Given the description of an element on the screen output the (x, y) to click on. 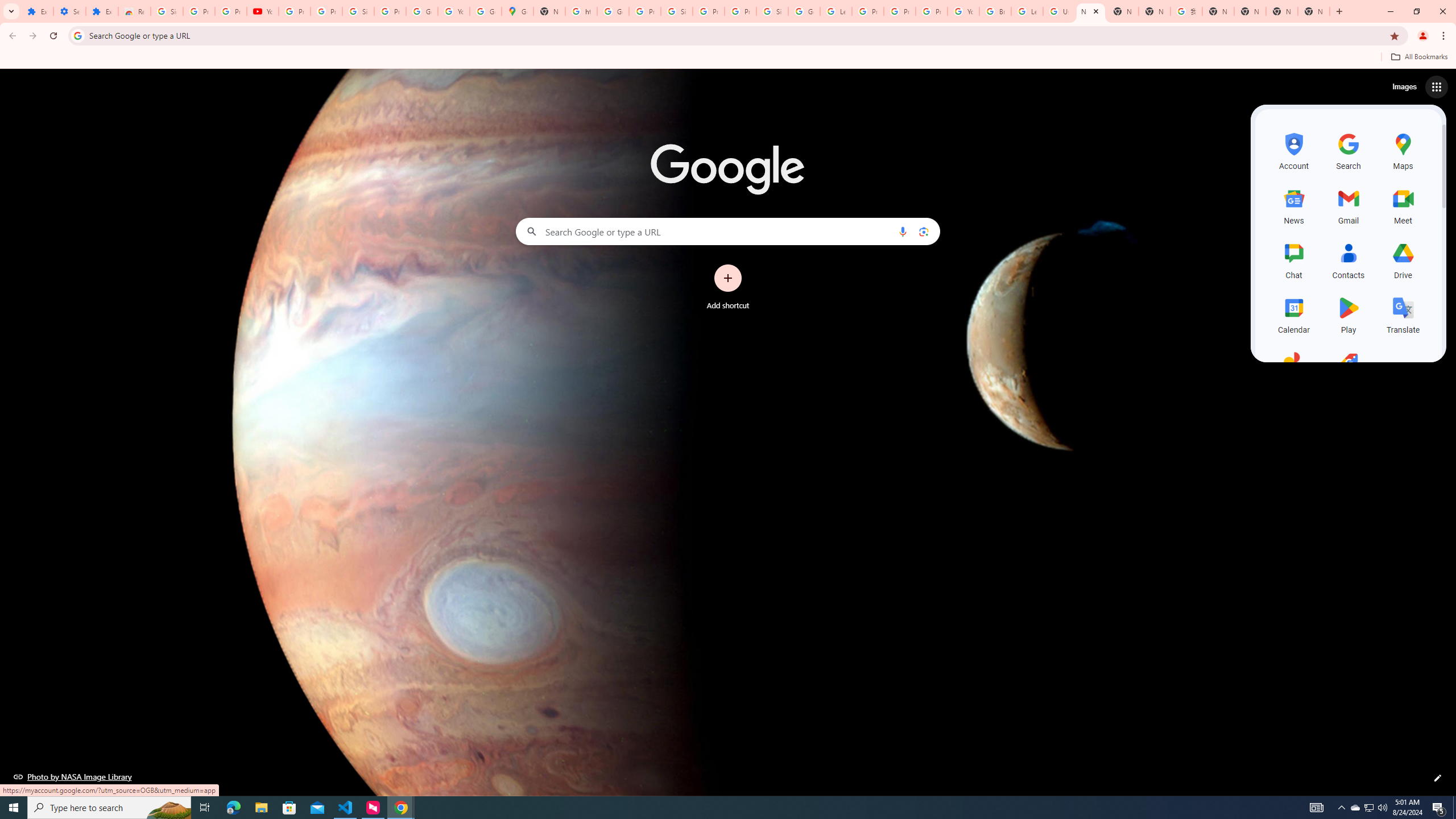
Chat, row 3 of 5 and column 1 of 3 in the first section (1293, 259)
Translate, row 4 of 5 and column 3 of 3 in the first section (1402, 313)
Photos, row 5 of 5 and column 1 of 3 in the first section (1293, 368)
Photo by NASA Image Library (72, 776)
Sign in - Google Accounts (166, 11)
Add shortcut (727, 287)
https://scholar.google.com/ (581, 11)
